Given the description of an element on the screen output the (x, y) to click on. 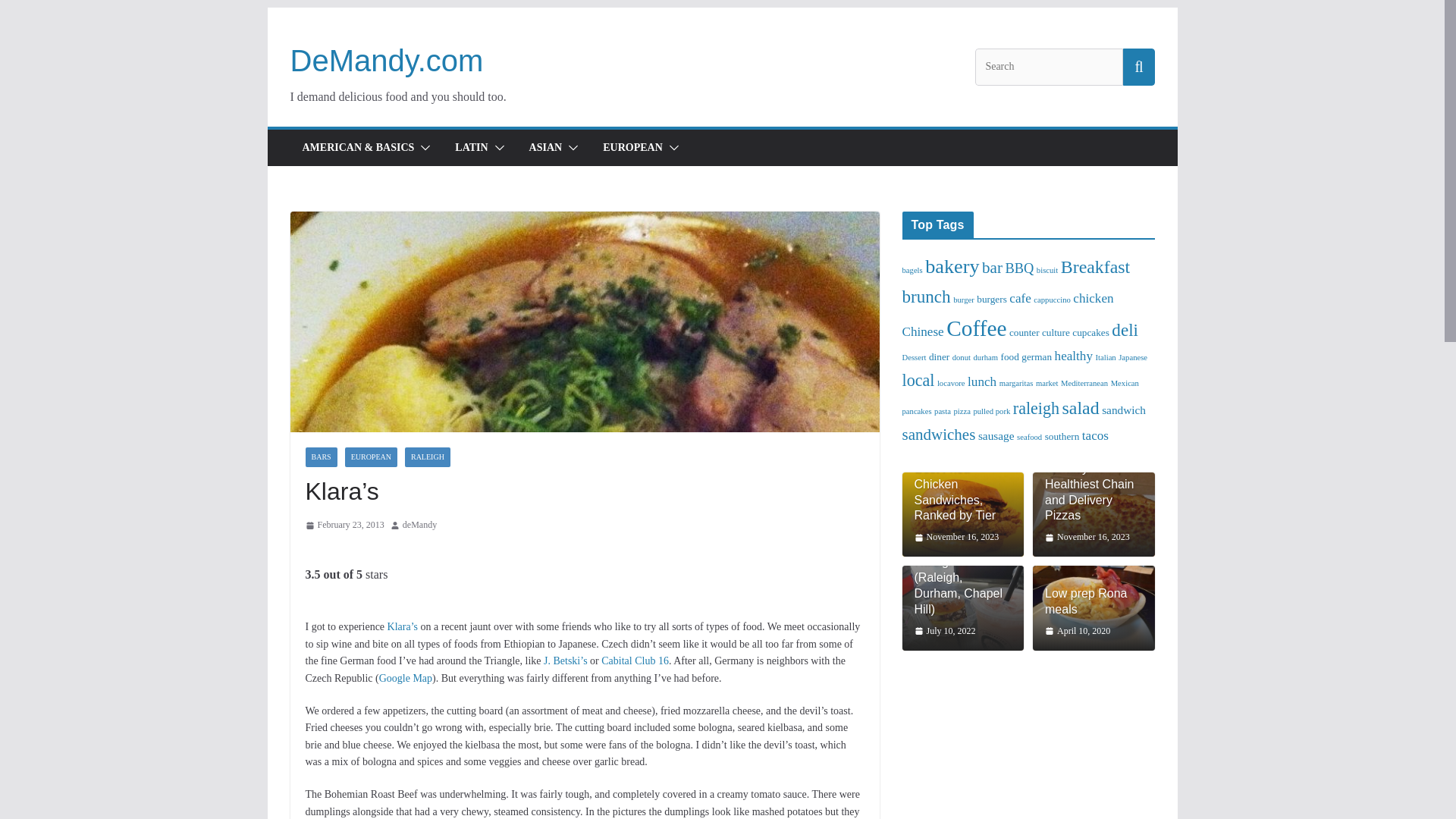
EUROPEAN (371, 456)
February 23, 2013 (344, 524)
deMandy (419, 524)
EUROPEAN (632, 147)
DeMandy.com (386, 60)
RALEIGH (426, 456)
8:26 PM (344, 524)
Klara's (402, 626)
Map of Czech Republic (405, 677)
DeMandy.com (386, 60)
